Given the description of an element on the screen output the (x, y) to click on. 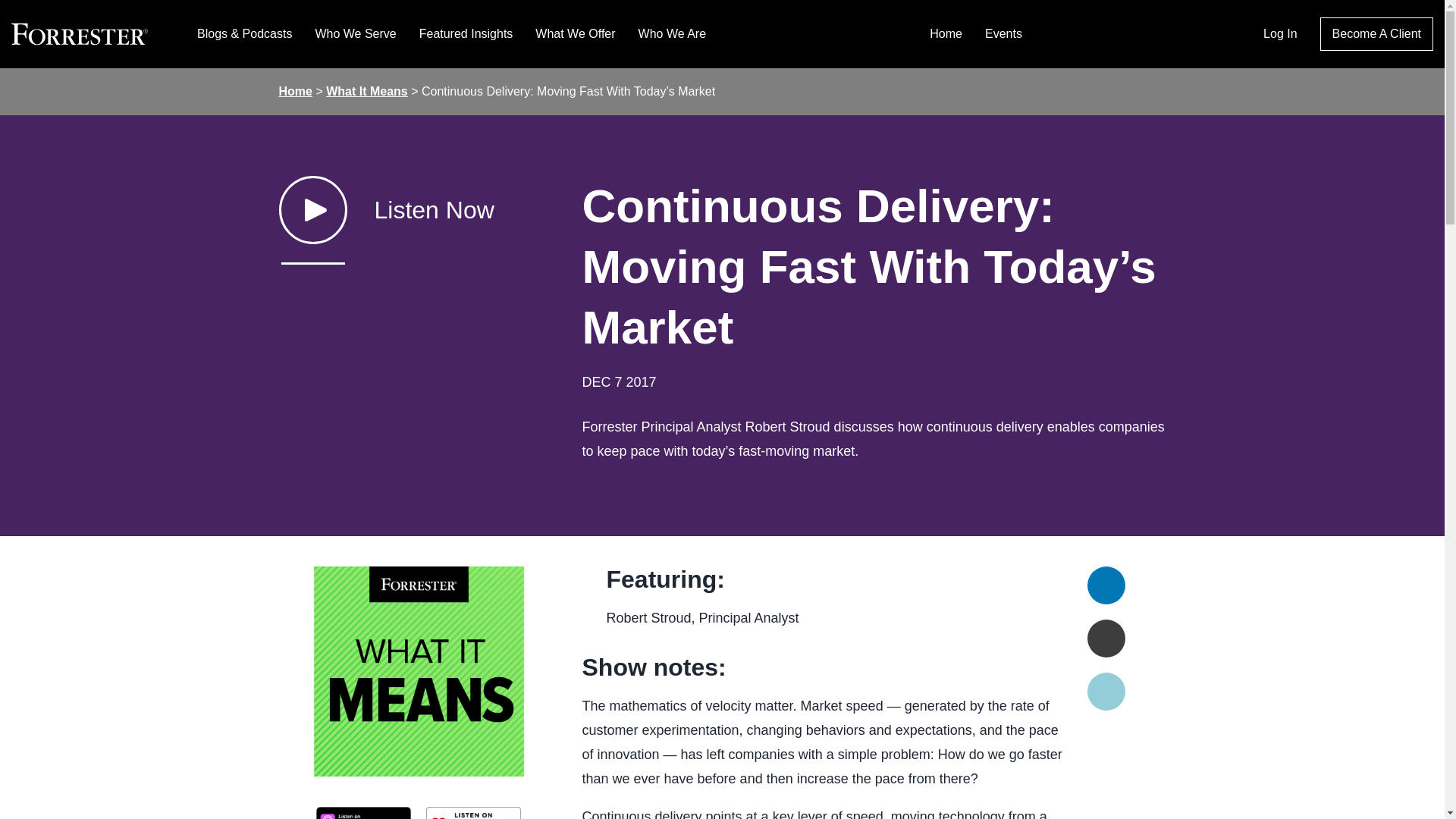
Who We Serve (355, 33)
What We Offer (574, 33)
Featured Insights (466, 33)
